Given the description of an element on the screen output the (x, y) to click on. 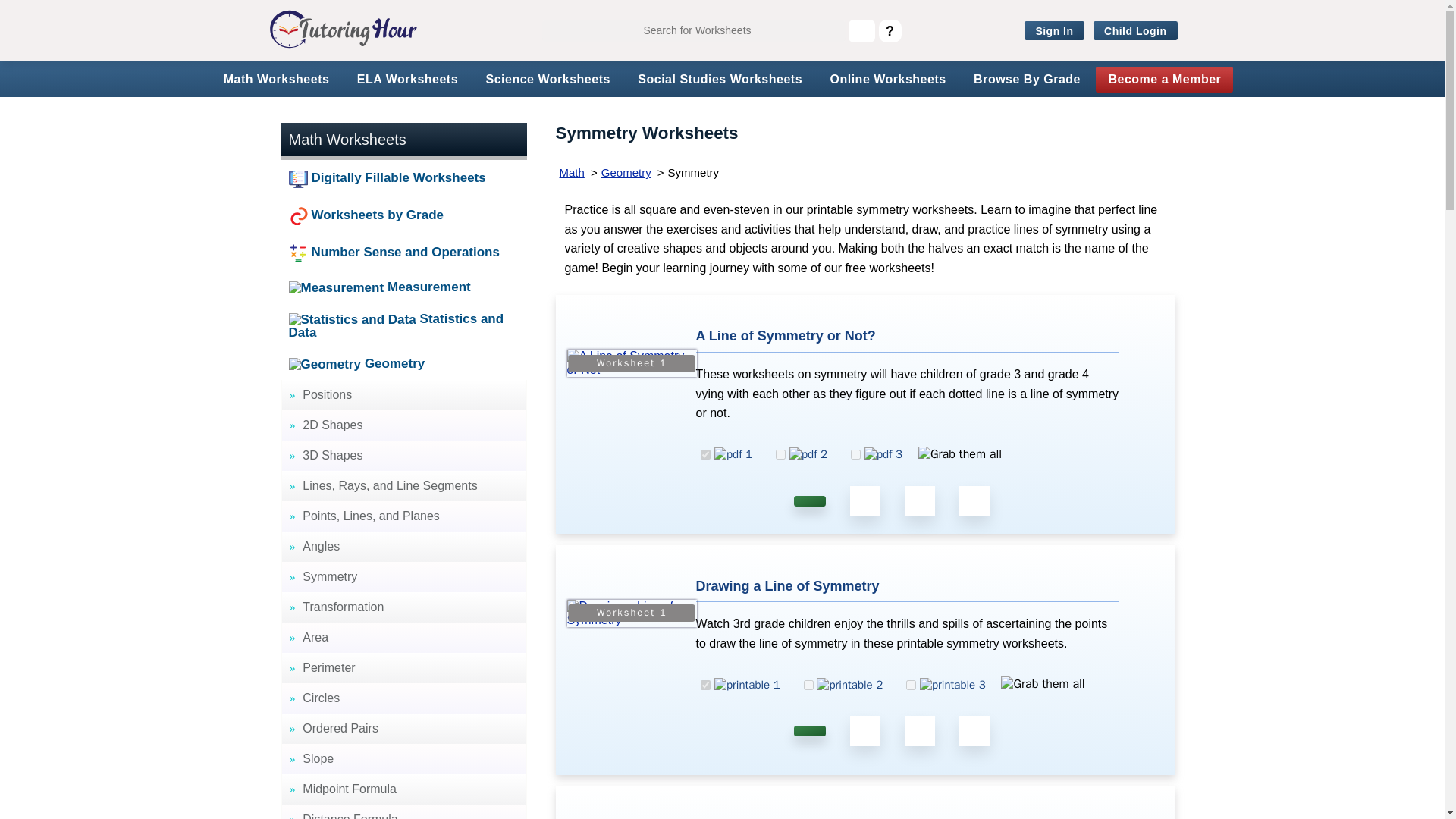
on (705, 685)
on (910, 685)
on (705, 454)
Digitally Fillable Worksheets (403, 178)
on (808, 685)
on (781, 454)
on (855, 454)
Sign In (1053, 30)
Child Login (1135, 30)
